Given the description of an element on the screen output the (x, y) to click on. 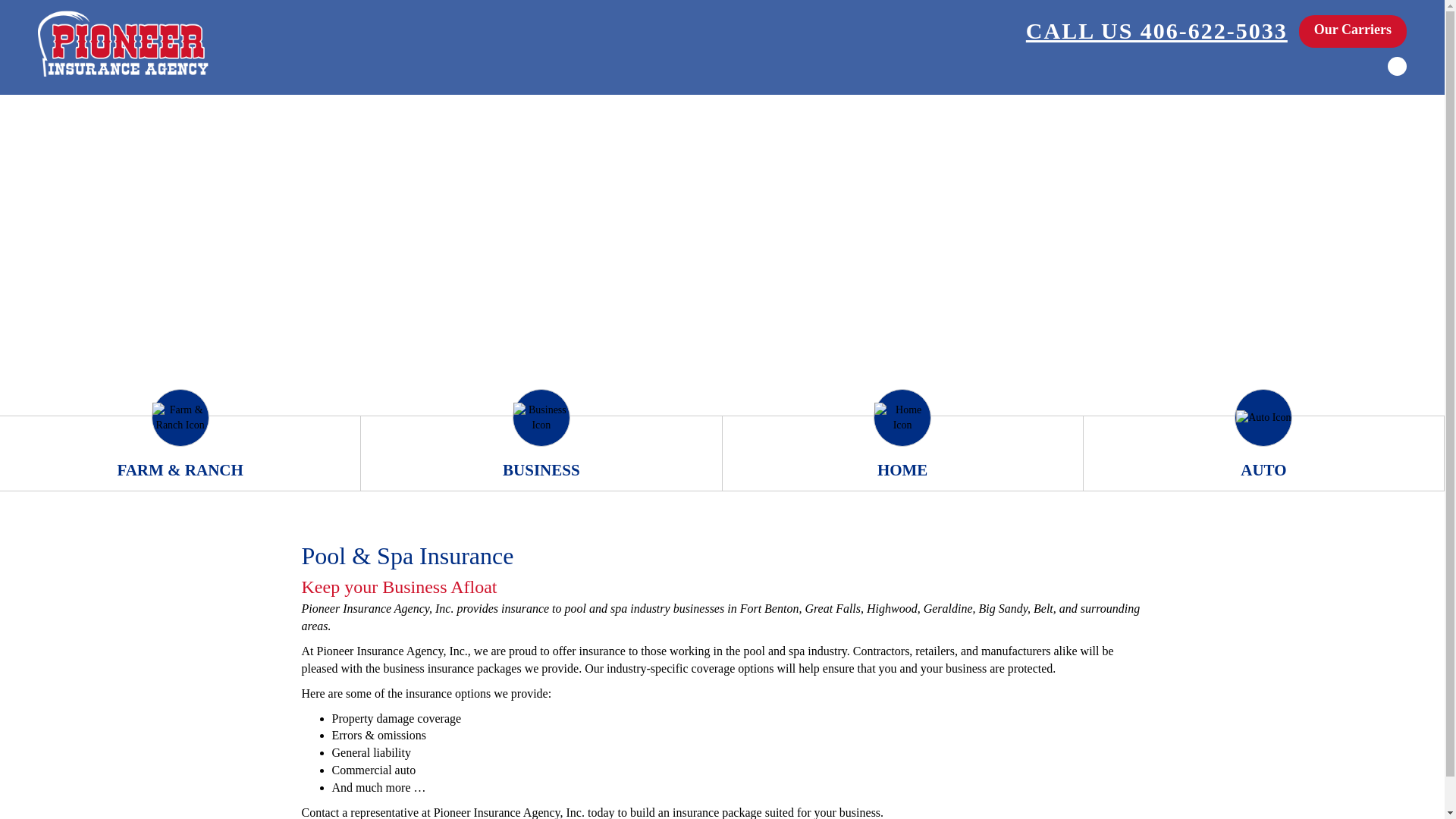
Our Carriers (1352, 31)
CALL US 406-622-5033 (1156, 31)
PRODUCTS (1224, 790)
OUR AGENCY (1127, 790)
